Given the description of an element on the screen output the (x, y) to click on. 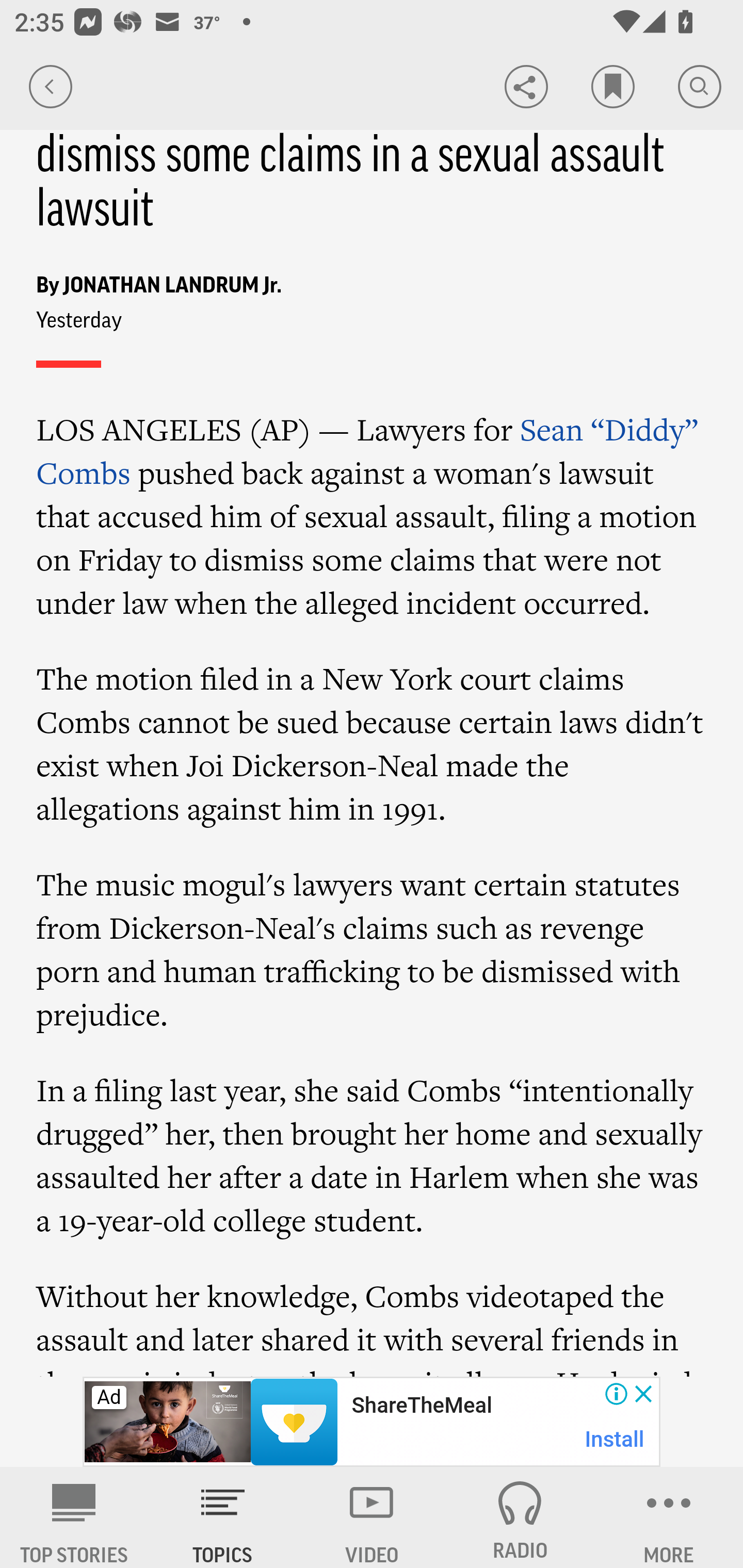
Sean “Diddy” Combs (367, 450)
ShareTheMeal (420, 1405)
Install (614, 1438)
AP News TOP STORIES (74, 1517)
TOPICS (222, 1517)
VIDEO (371, 1517)
RADIO (519, 1517)
MORE (668, 1517)
